Given the description of an element on the screen output the (x, y) to click on. 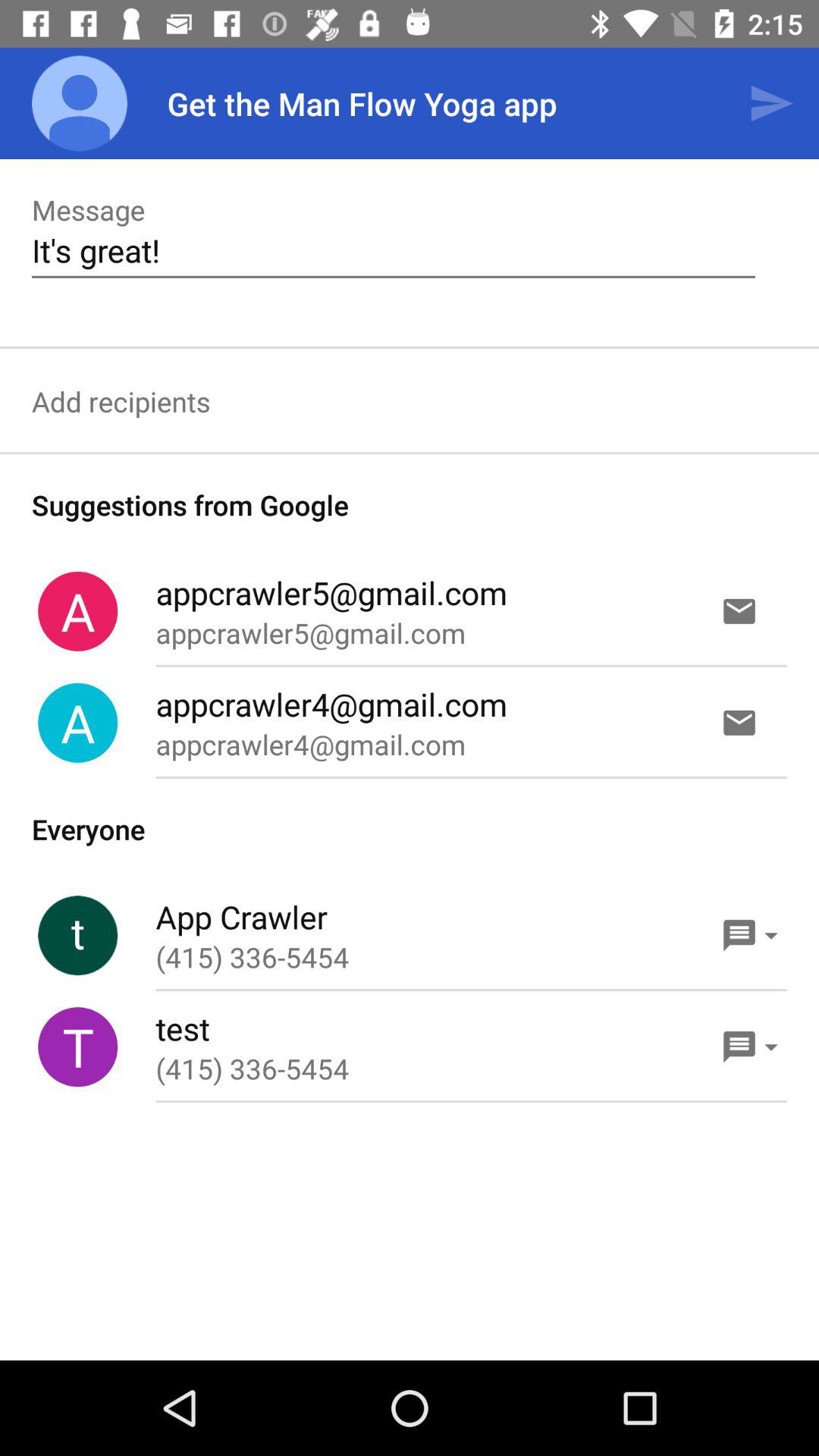
swipe to the it's great! (393, 249)
